Given the description of an element on the screen output the (x, y) to click on. 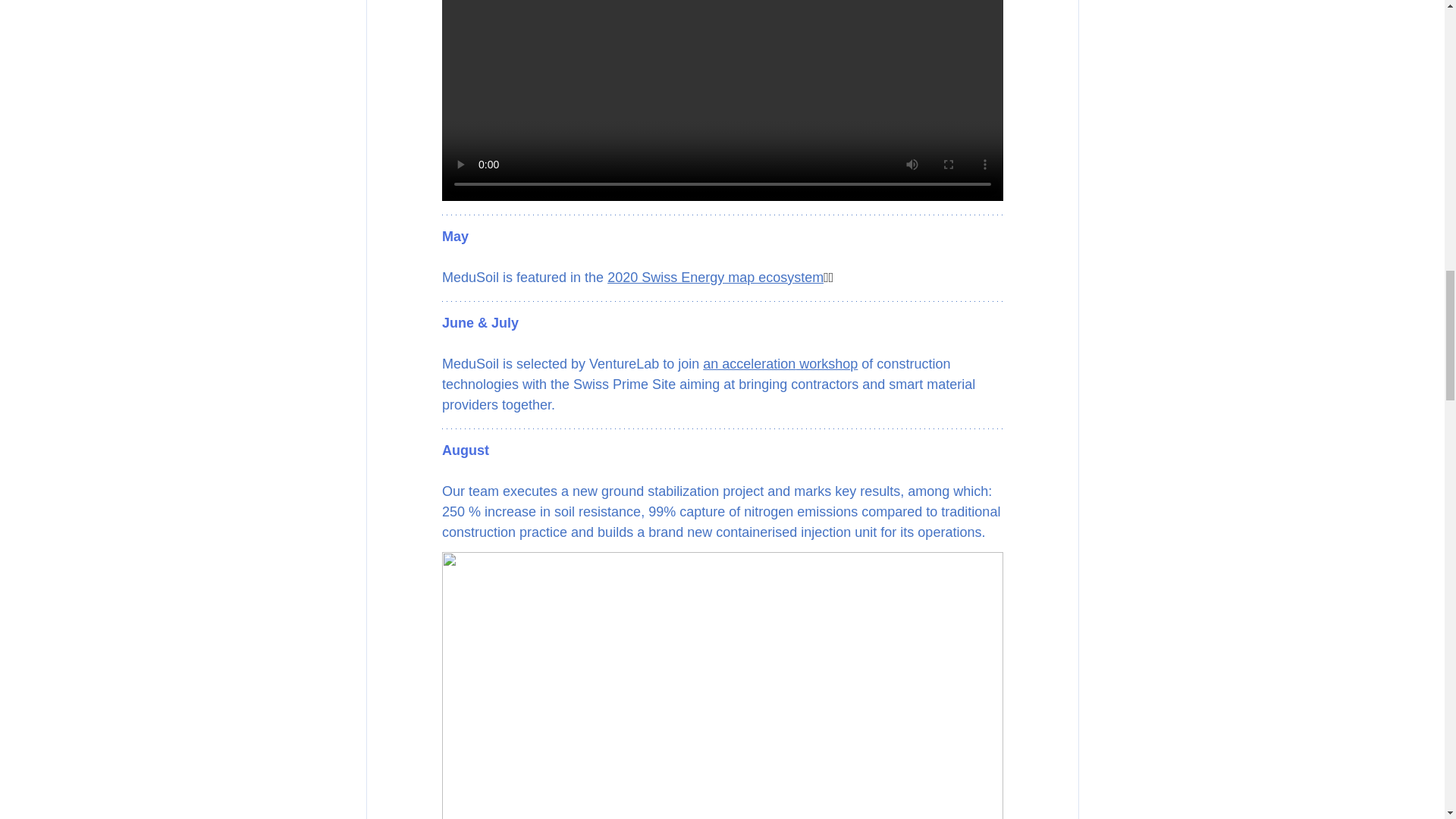
2020 Swiss Energy map ecosystem (715, 277)
an acceleration (748, 363)
